Given the description of an element on the screen output the (x, y) to click on. 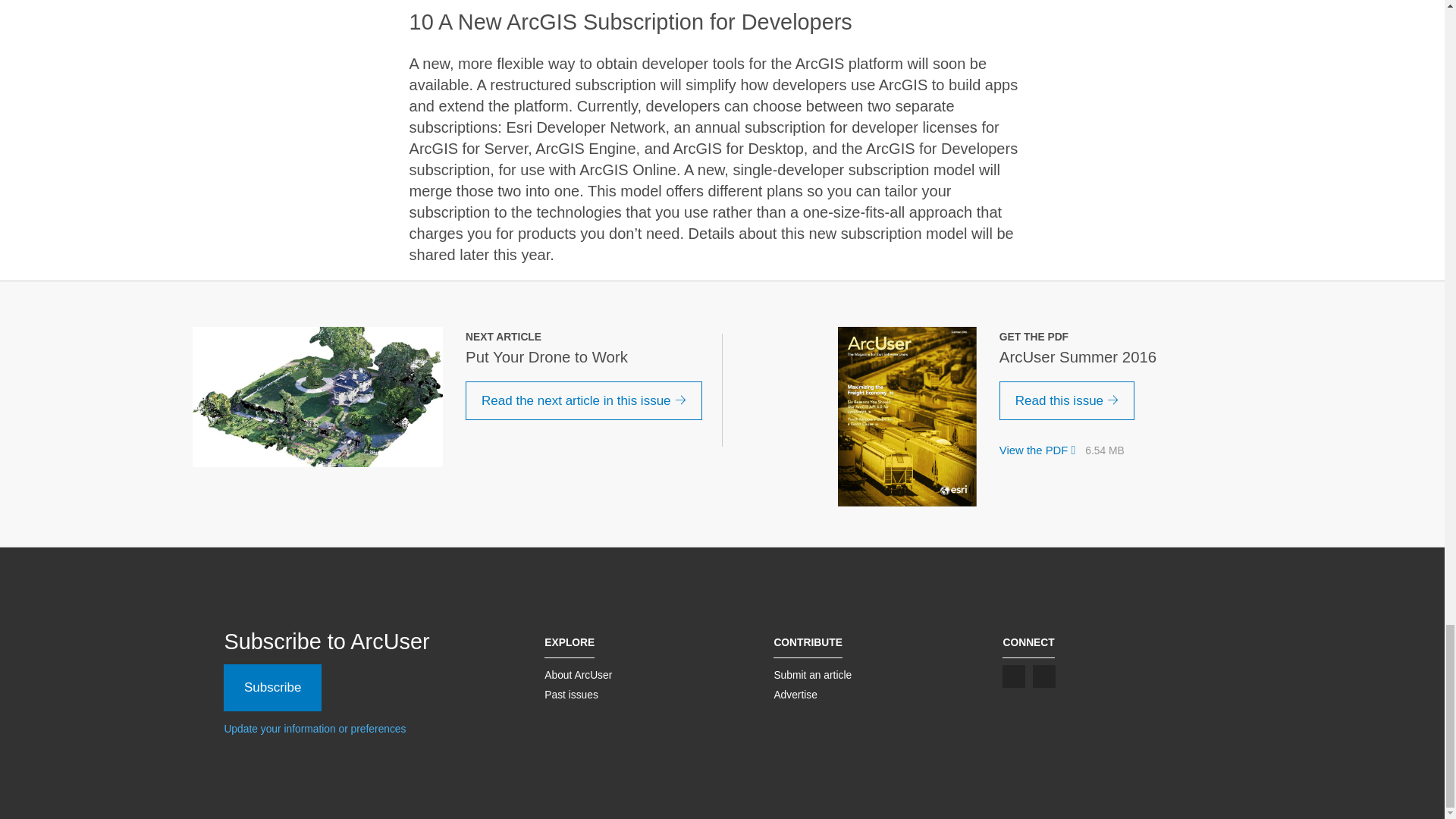
Read the next article in this issue (583, 400)
About ArcUser (577, 674)
Read this issue (1066, 400)
Submit an article (812, 674)
Advertise (794, 694)
Update your information or preferences (315, 728)
Subscribe (272, 687)
Past issues (571, 694)
View the PDF 6.54 MB (1061, 450)
